Given the description of an element on the screen output the (x, y) to click on. 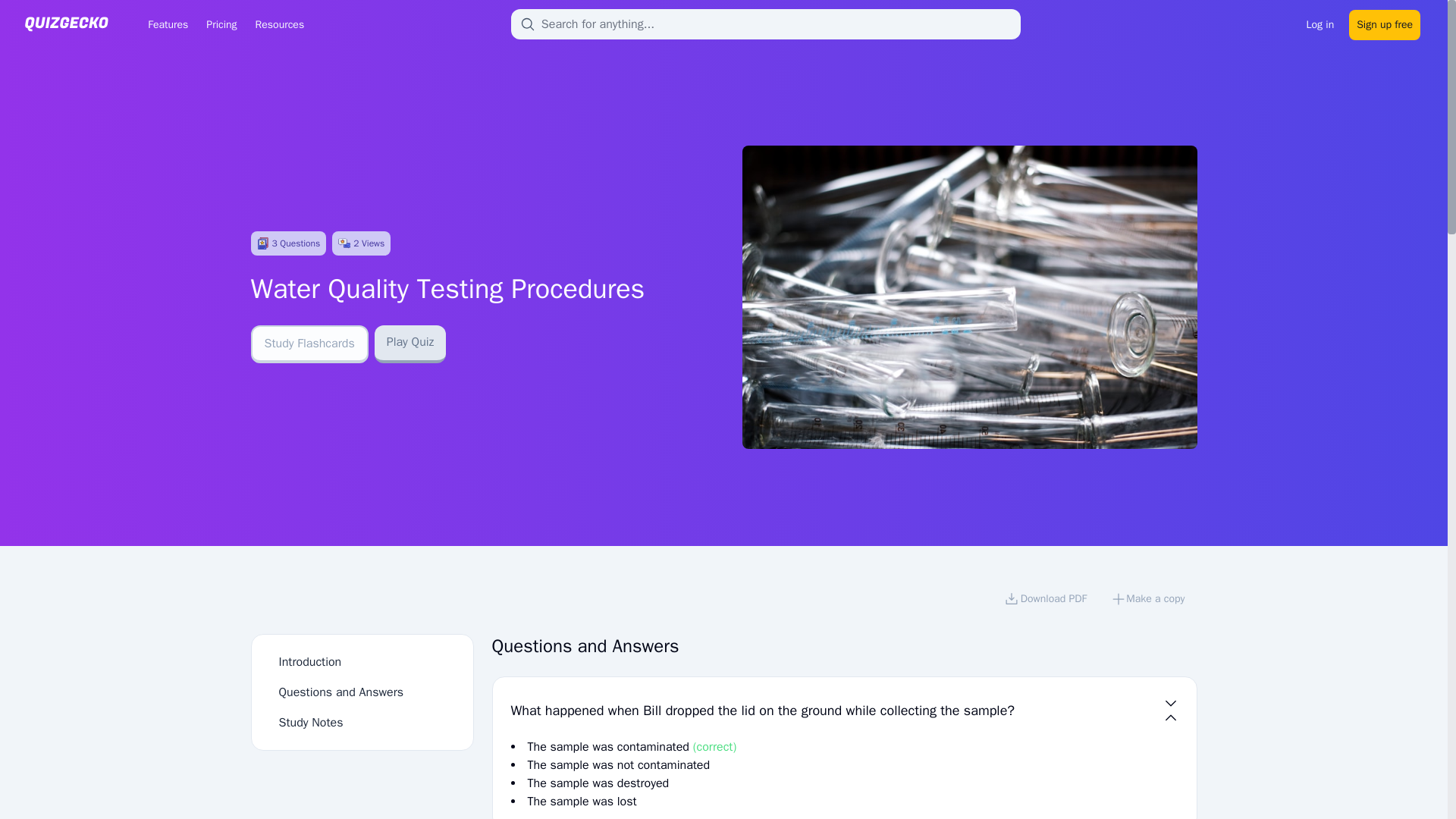
Resources (279, 23)
Introduction (310, 661)
Study Flashcards (309, 344)
Make a copy (1147, 600)
Sign up free (1384, 23)
Log in (1320, 23)
Study Notes (311, 722)
Questions and Answers (341, 692)
Pricing (221, 23)
Download PDF (1045, 600)
